Given the description of an element on the screen output the (x, y) to click on. 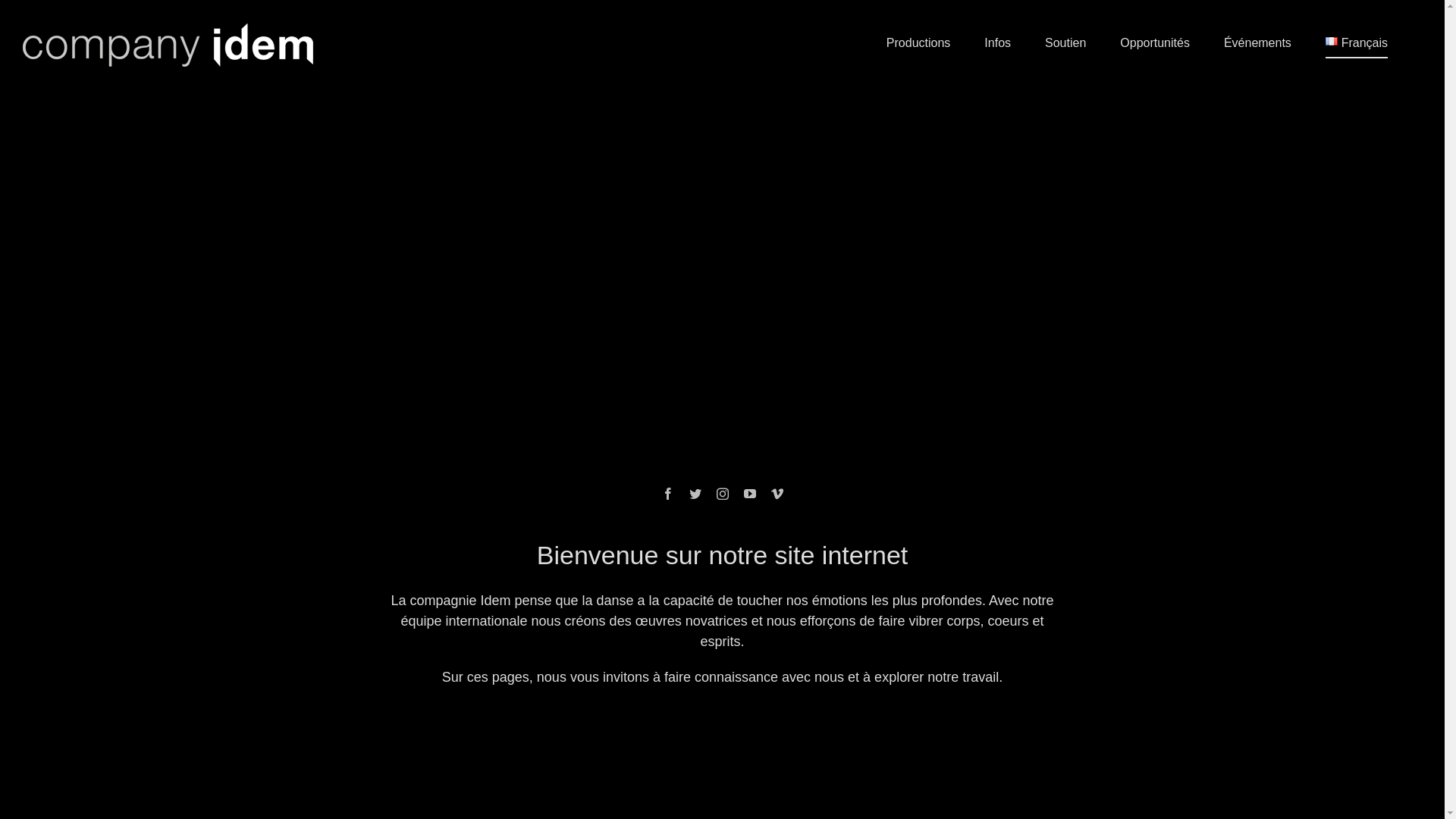
Soutien Element type: text (1064, 42)
Productions Element type: text (918, 42)
Infos Element type: text (997, 42)
Vimeo video player 1 Element type: hover (721, 278)
